Given the description of an element on the screen output the (x, y) to click on. 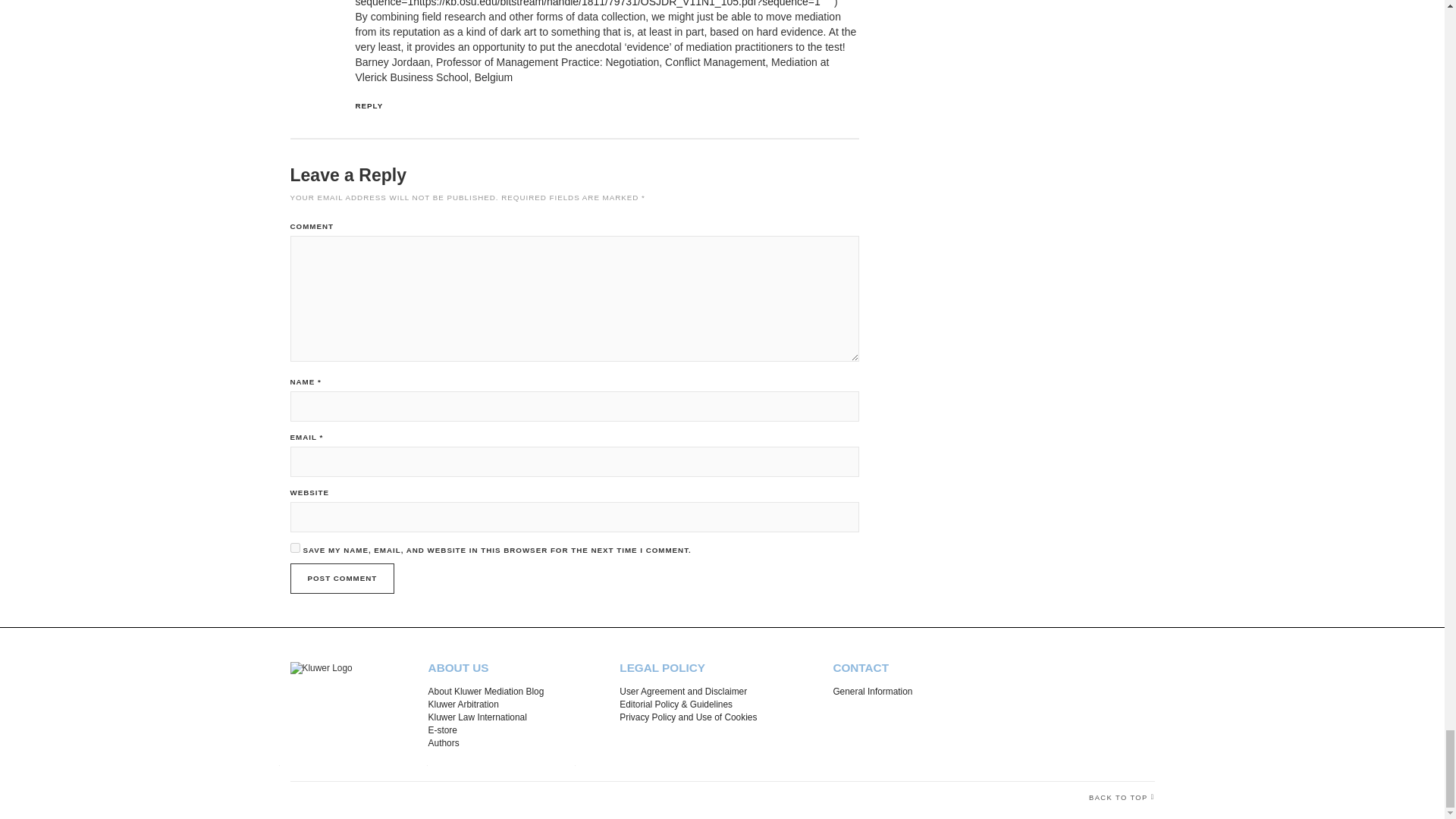
Post Comment (341, 578)
yes (294, 547)
